Given the description of an element on the screen output the (x, y) to click on. 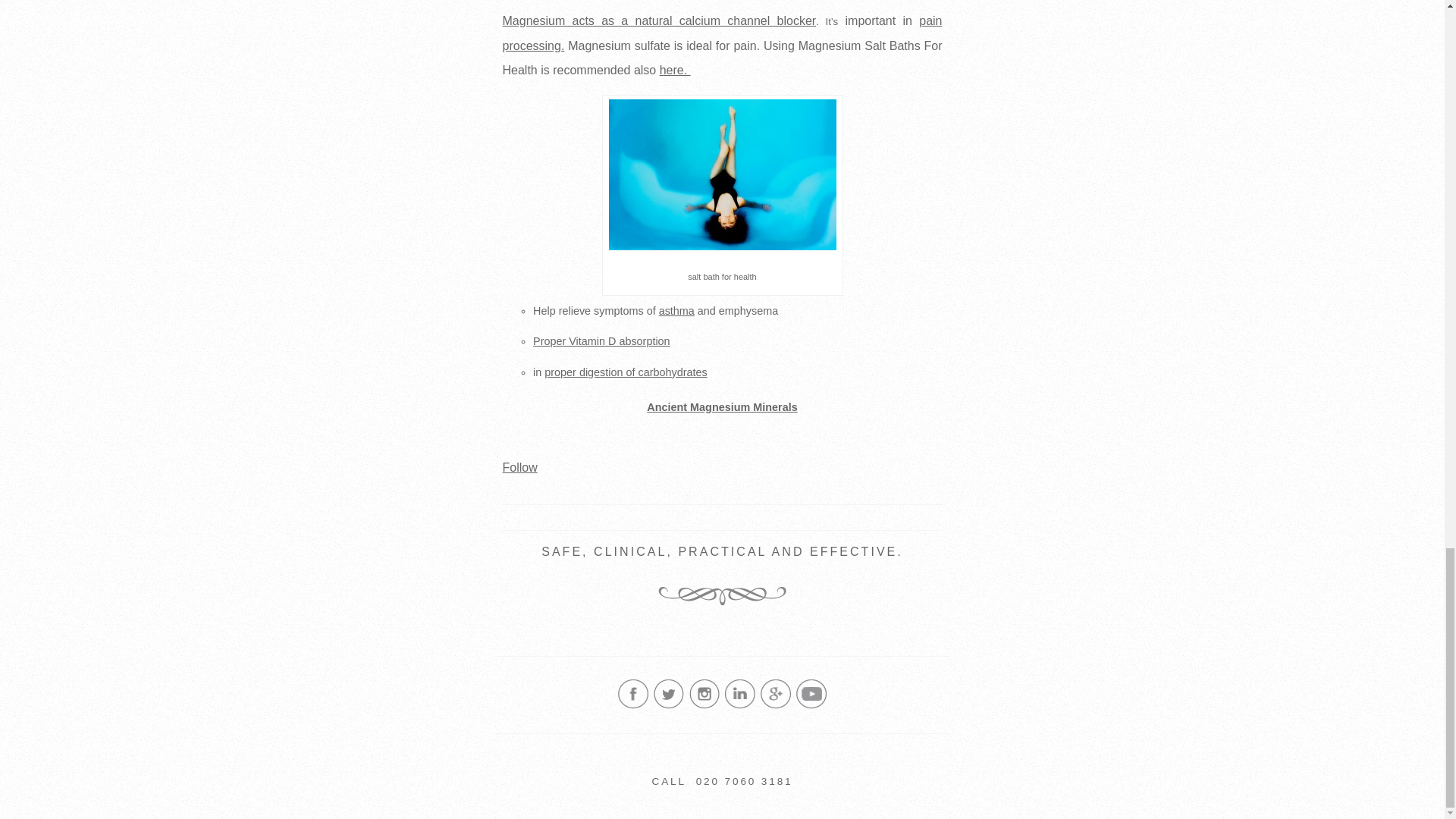
Susannah Makram on Instagram (703, 705)
Susannah Makram on Facebook (632, 705)
Susannah Makram on Linked In (740, 705)
Susannah Makram on Twitter (668, 705)
Magnesium acts as a natural calcium channel blocker (658, 20)
pain processing. (722, 33)
proper digestion of carbohydrates (625, 372)
Proper Vitamin D absorption (600, 340)
asthma (676, 310)
Follow (519, 467)
here.  (674, 69)
Susannah Makram on Google Plus (775, 705)
Ancient Magnesium Minerals (721, 406)
